Given the description of an element on the screen output the (x, y) to click on. 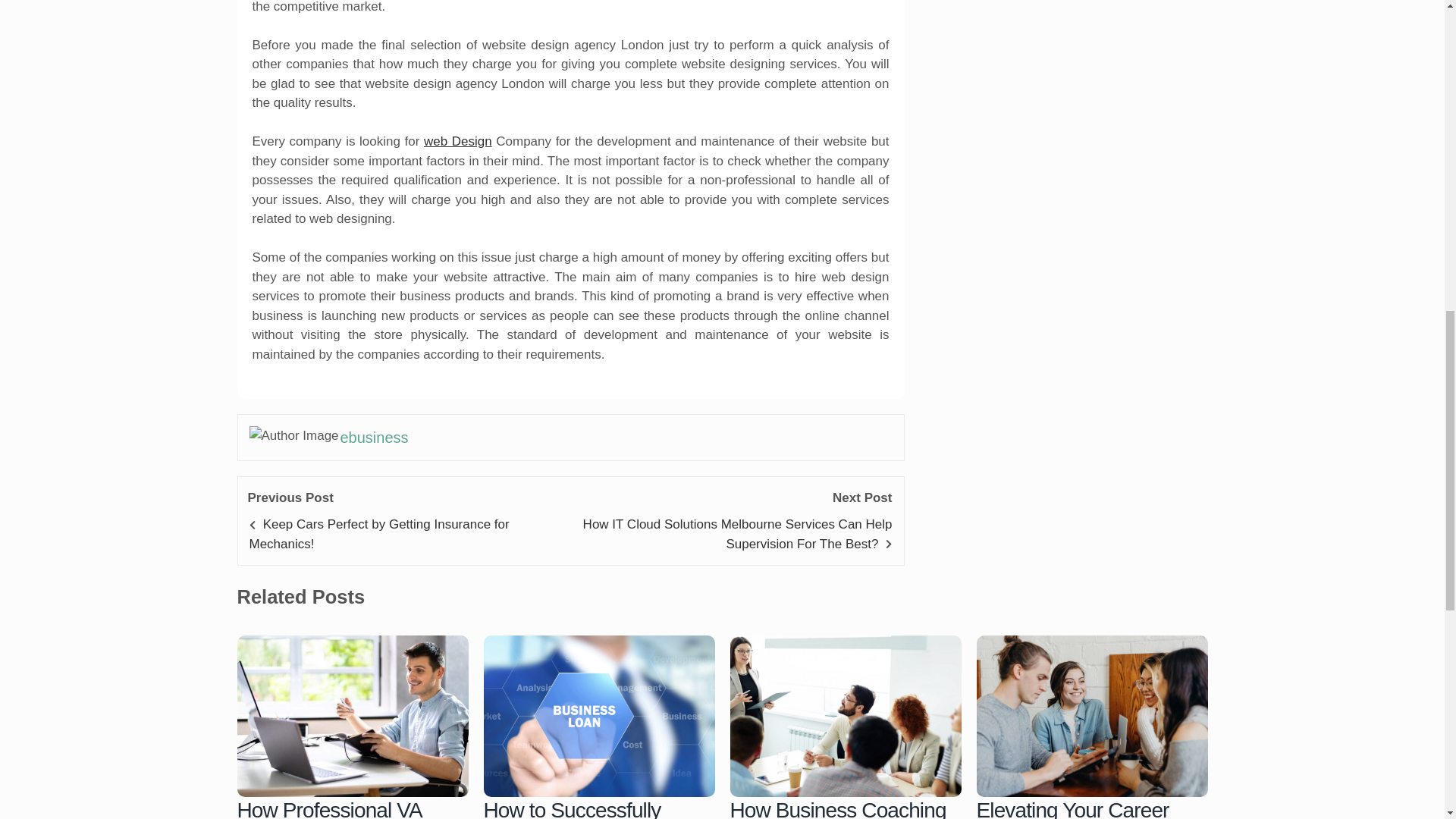
How to Successfully Acquire a Business Loan in Montreal? (593, 808)
web Design (457, 141)
How to Successfully Acquire a Business Loan in Montreal? (598, 716)
Author Image (293, 435)
Elevating Your Career through Networking in Wellington (1092, 716)
Keep Cars Perfect by Getting Insurance for Mechanics! (378, 533)
